Given the description of an element on the screen output the (x, y) to click on. 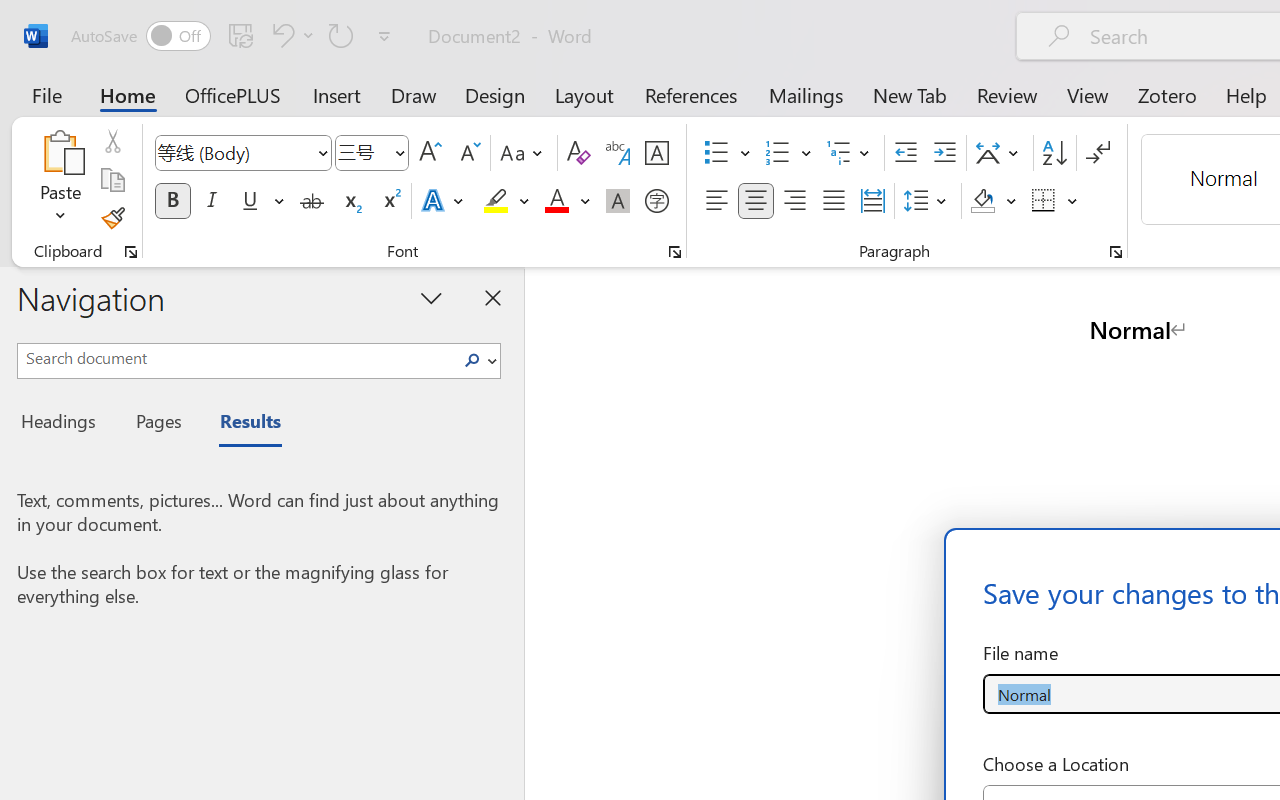
Repeat Style (341, 35)
Numbering (788, 153)
Align Left (716, 201)
Zotero (1166, 94)
Phonetic Guide... (618, 153)
Subscript (350, 201)
Character Shading (618, 201)
Save (241, 35)
Class: NetUIImage (471, 360)
Text Effects and Typography (444, 201)
Bold (172, 201)
Customize Quick Access Toolbar (384, 35)
Font Size (362, 152)
Change Case (524, 153)
Paste (60, 179)
